Given the description of an element on the screen output the (x, y) to click on. 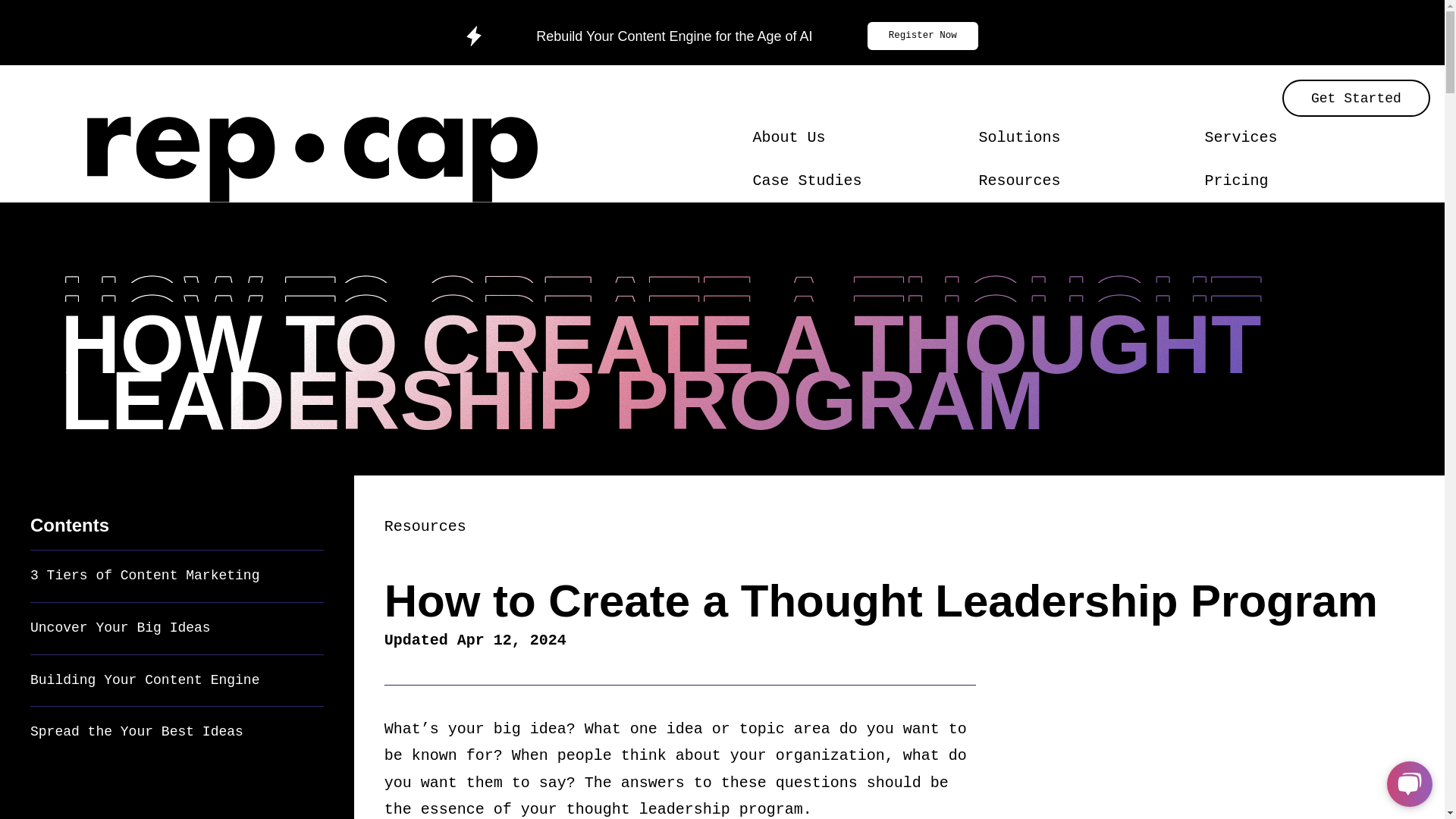
Visit Content Marketing Solutions Page (1083, 137)
About Us (788, 137)
Building Your Content Engine (144, 679)
3 Tiers of Content Marketing (144, 575)
Visit Pricing Page (1309, 180)
Spread the Your Best Ideas (136, 731)
Visit Marketing Insights Page (1083, 180)
Visit Content Marketing Services Page (1309, 137)
Uncover Your Big Ideas (120, 627)
Solutions (1019, 137)
Register Now (922, 35)
Get Started (1355, 98)
Visit Team Page (856, 137)
Resources (424, 526)
Visit Case Studies Page (856, 180)
